Given the description of an element on the screen output the (x, y) to click on. 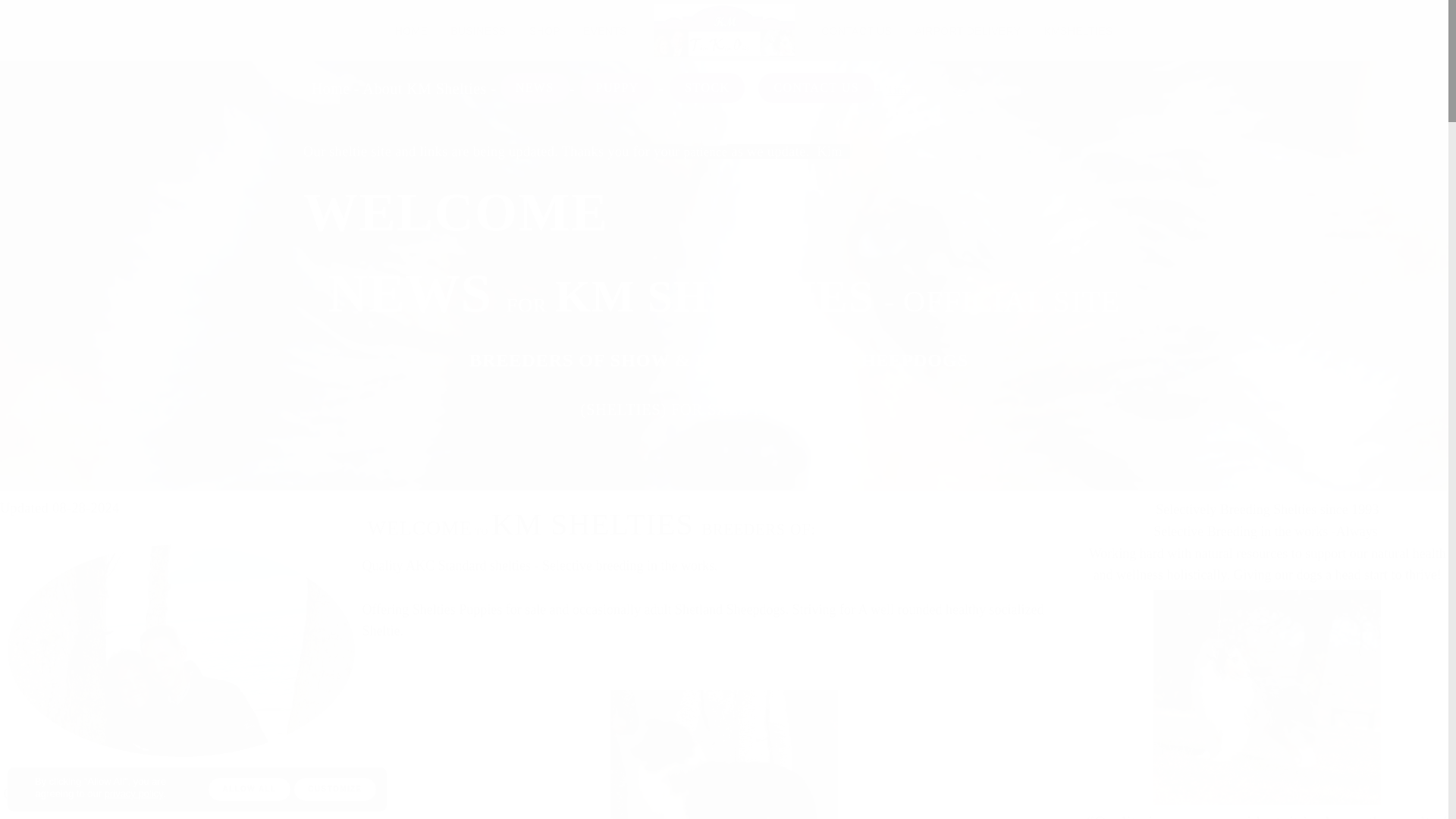
Tim Kim Oils (922, 89)
STOCK (706, 87)
AIRPORT DELIVERY (967, 30)
NEWS (534, 87)
EVENTS (604, 30)
SHOP (544, 30)
BUSINESS (478, 30)
PUPPY (616, 87)
CONTACT US (816, 87)
KMSHELTIES (1077, 30)
